Given the description of an element on the screen output the (x, y) to click on. 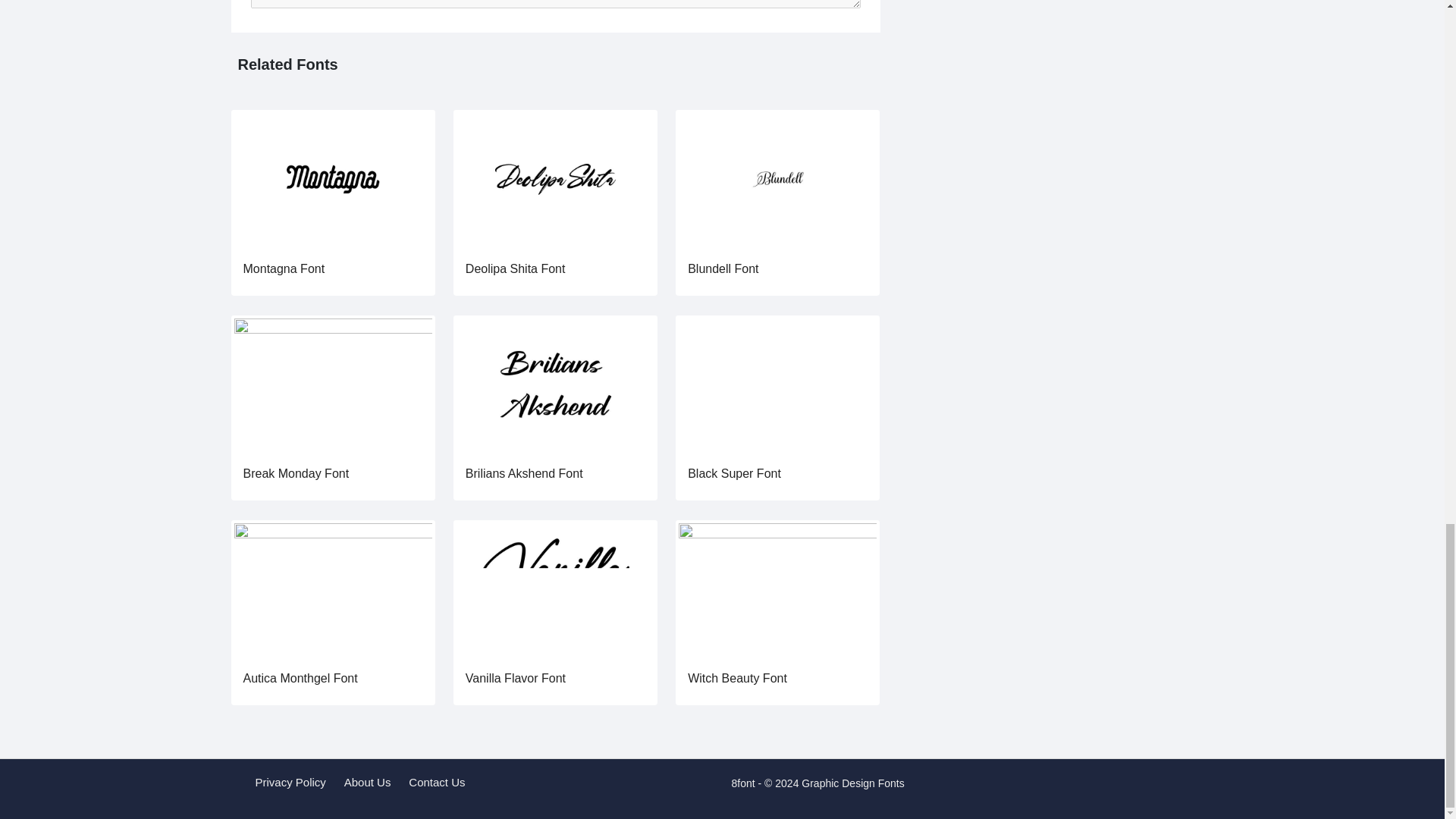
Montagna Font (331, 178)
Black Super Font (733, 472)
Brilians Akshend Font (555, 384)
Vanilla Flavor Font (515, 677)
Autica Monthgel Font (299, 677)
Deolipa Shita Font (515, 268)
Blundell Font (722, 268)
Autica Monthgel Font (331, 589)
Break Monday Font (331, 384)
Blundell Font (777, 178)
